Given the description of an element on the screen output the (x, y) to click on. 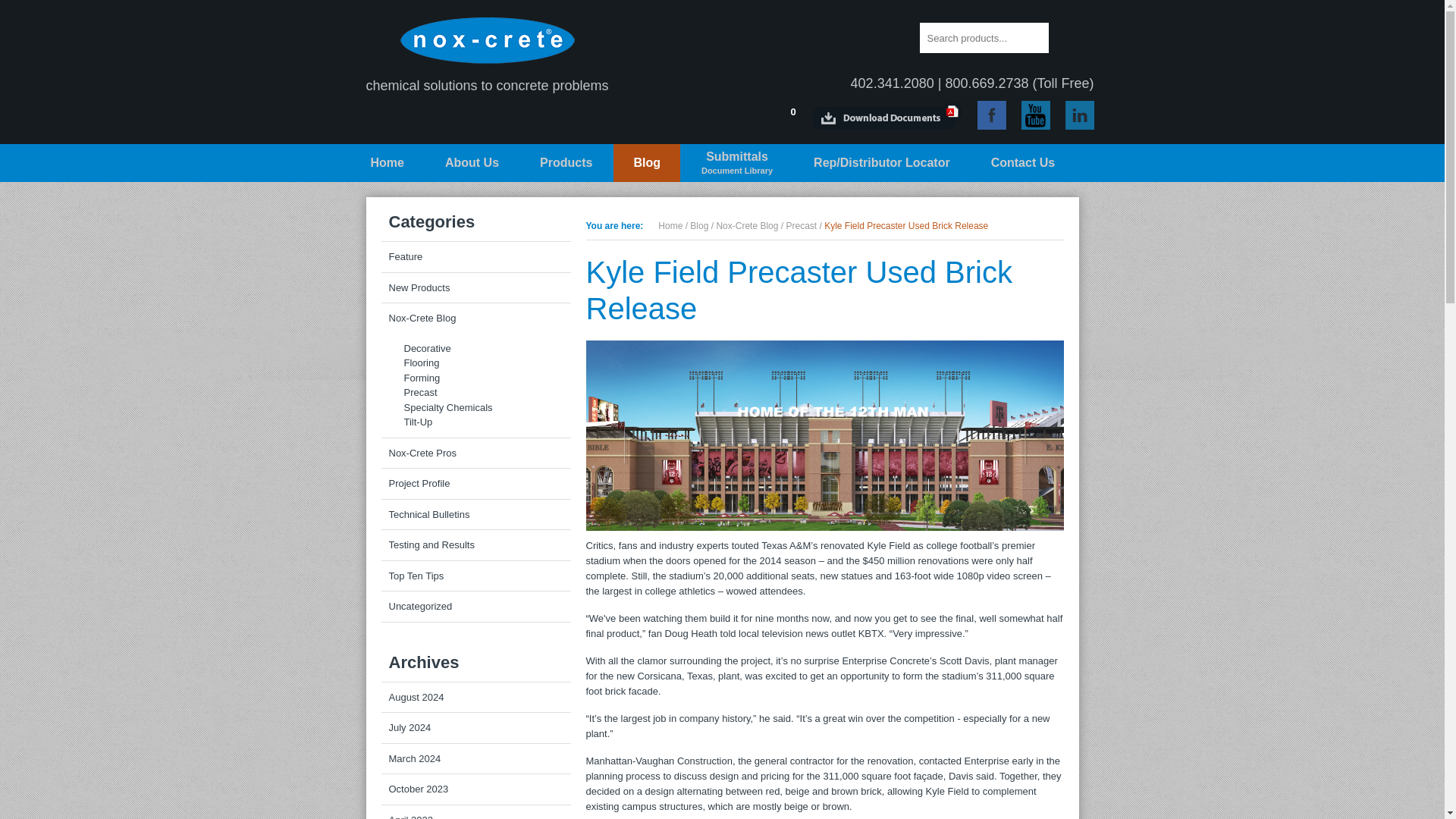
Forming (475, 377)
Decorative (475, 348)
Go to Blog. (736, 162)
Uncategorized (698, 225)
Specialty Chemicals (475, 606)
0 (475, 407)
Home (743, 115)
Technical Bulletins (386, 162)
Project Profile (475, 513)
